Given the description of an element on the screen output the (x, y) to click on. 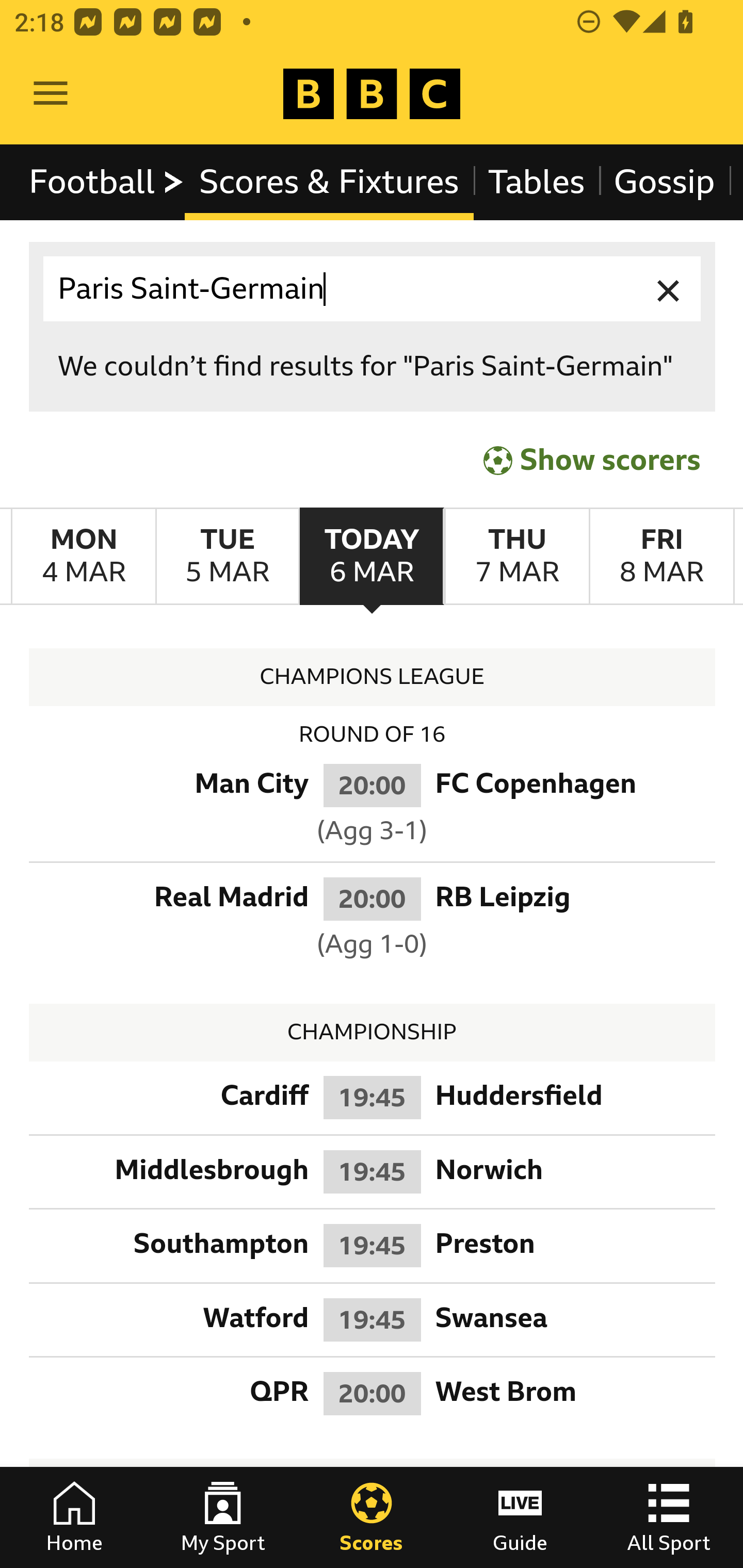
Open Menu (50, 93)
Football  (106, 181)
Scores & Fixtures (329, 181)
Tables (536, 181)
Gossip (664, 181)
Paris Saint-Germain (372, 289)
Clear input (669, 289)
Show scorers (591, 459)
MondayMarch 4th Monday March 4th (83, 557)
TuesdayMarch 5th Tuesday March 5th (227, 557)
ThursdayMarch 7th Thursday March 7th (516, 557)
FridayMarch 8th Friday March 8th (661, 557)
Home (74, 1517)
My Sport (222, 1517)
Guide (519, 1517)
All Sport (668, 1517)
